Given the description of an element on the screen output the (x, y) to click on. 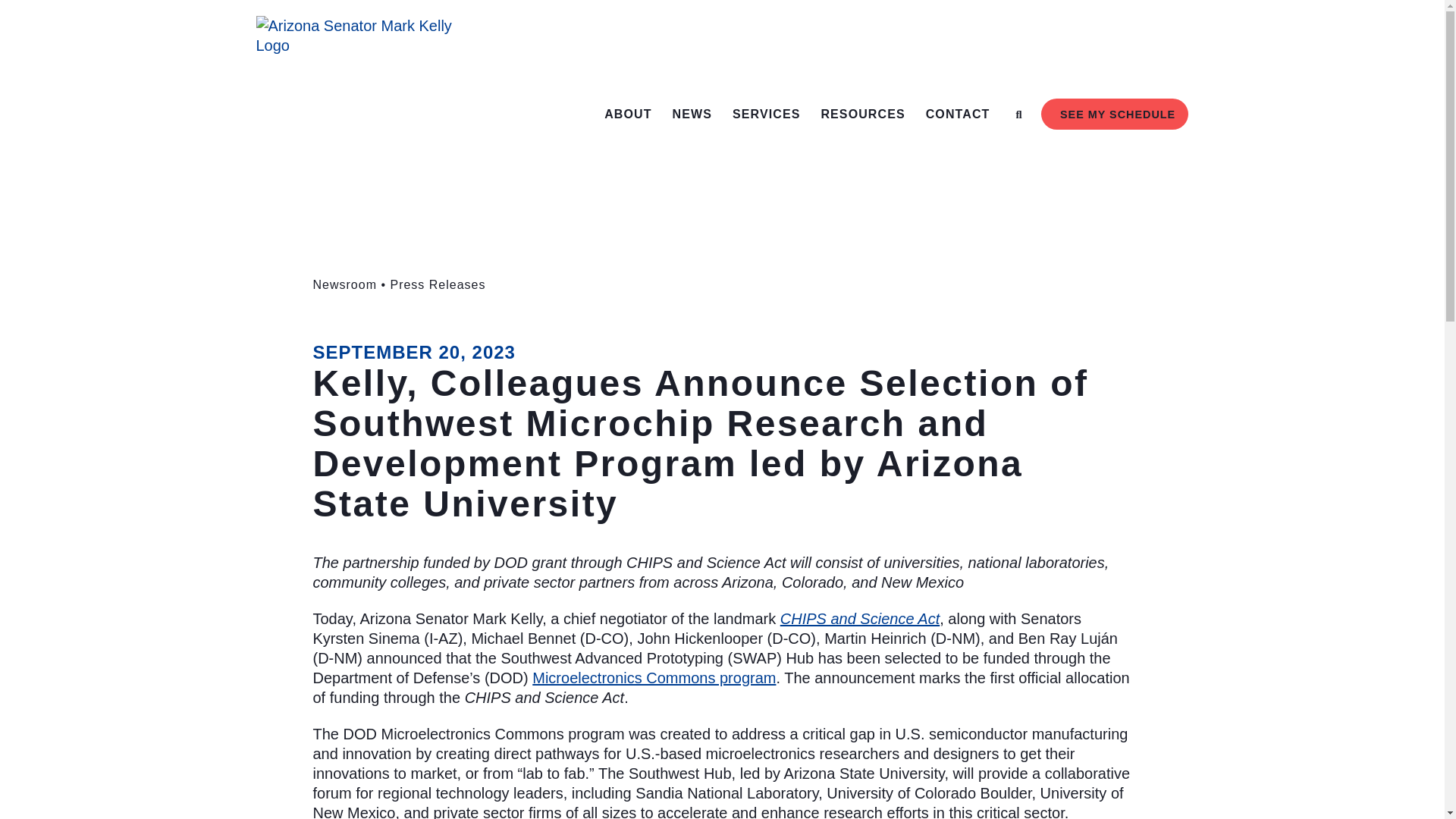
NEWS (691, 113)
CONTACT (958, 113)
SERVICES (765, 113)
ABOUT (627, 113)
RESOURCES (862, 113)
